Given the description of an element on the screen output the (x, y) to click on. 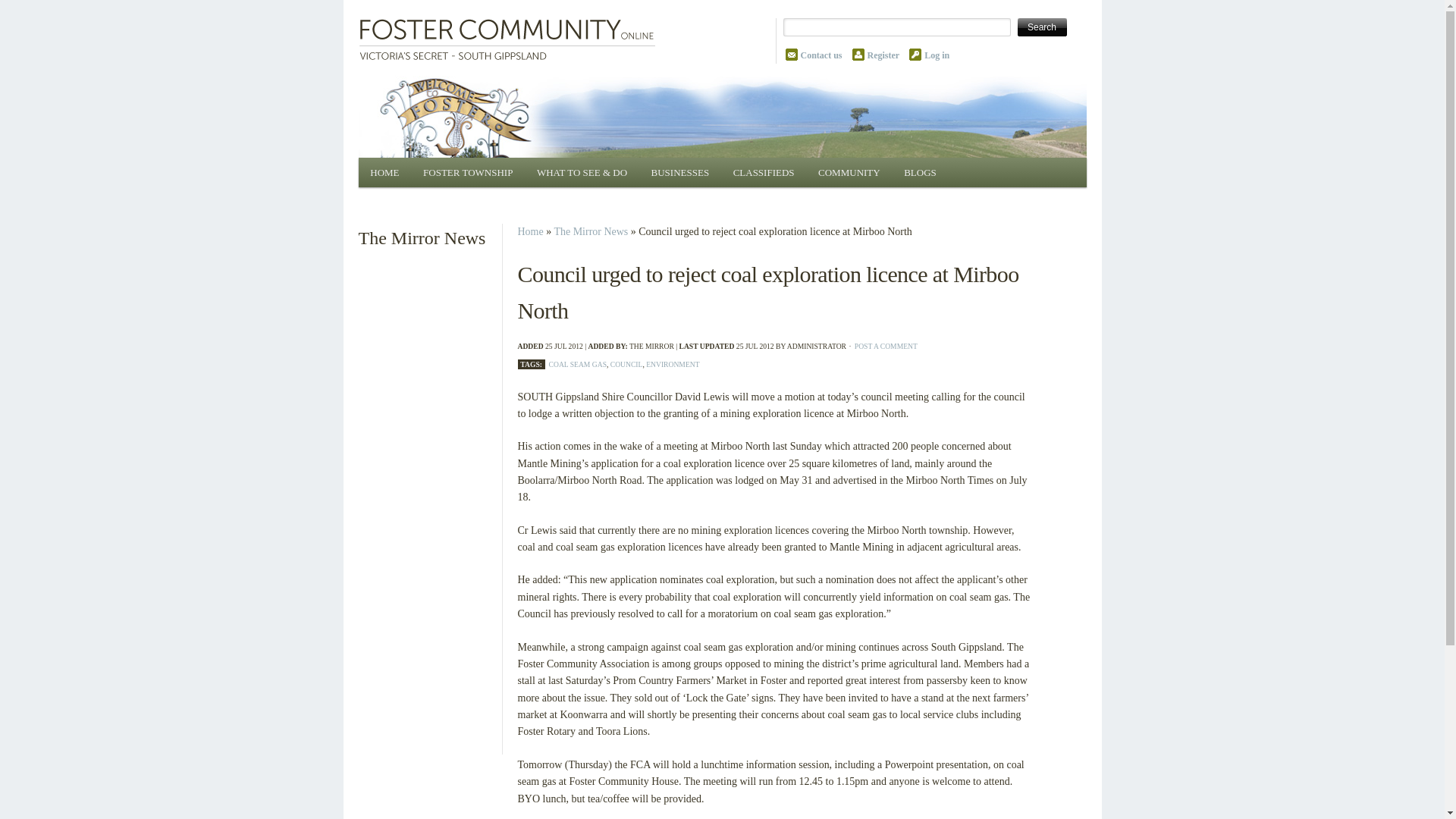
CLASSIFIEDS (763, 172)
HOME (384, 172)
FOSTER TOWNSHIP (467, 172)
Log in (936, 54)
Search (1042, 27)
COMMUNITY (848, 172)
Contact us (821, 54)
Search (1042, 27)
Contact us (821, 54)
register (883, 54)
